Given the description of an element on the screen output the (x, y) to click on. 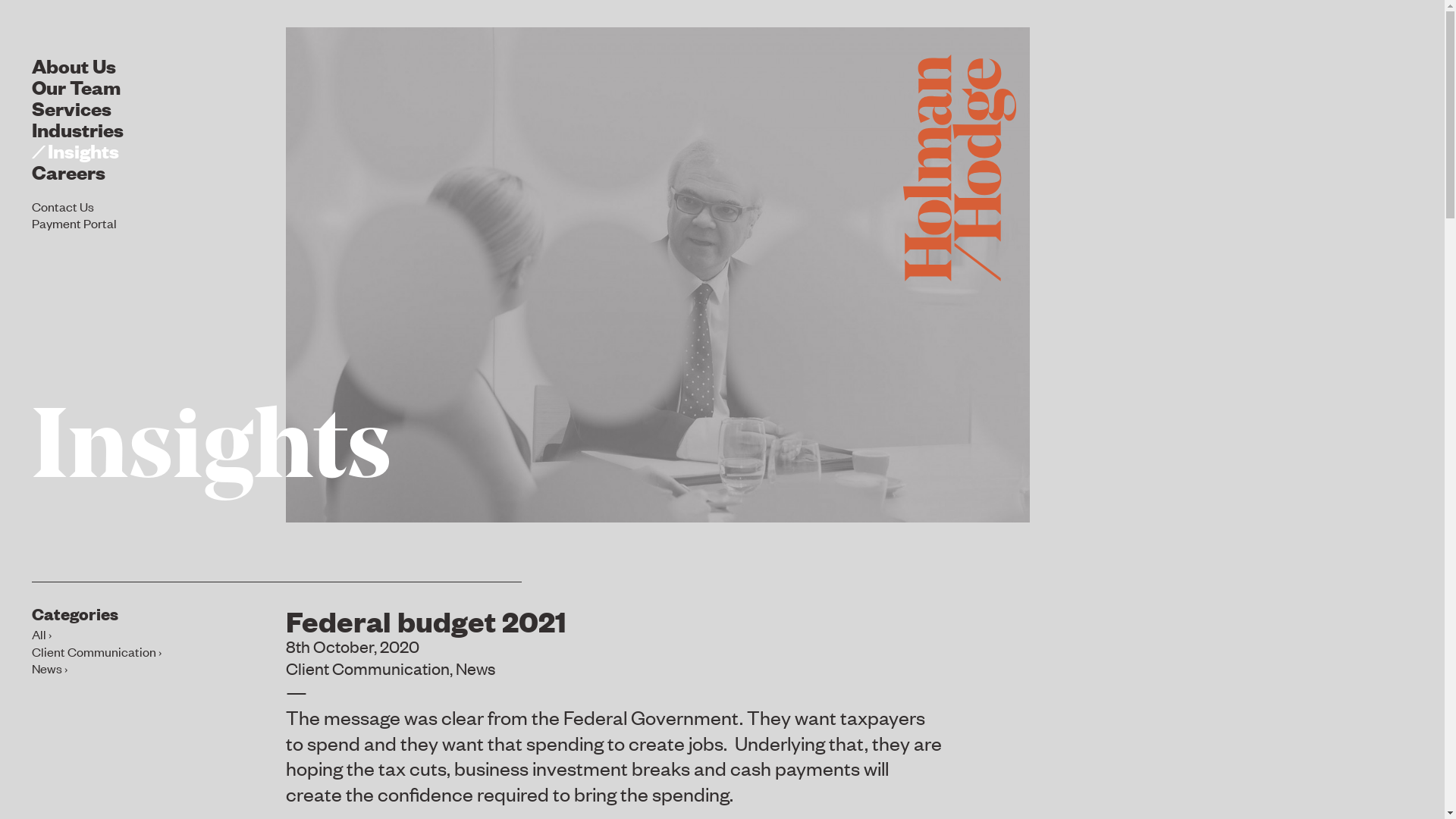
Insights Element type: text (211, 452)
Careers Element type: text (68, 170)
Insights Element type: text (75, 149)
Contact Us Element type: text (62, 205)
About Us Element type: text (73, 64)
Client Communication Element type: text (96, 651)
Payment Portal Element type: text (73, 222)
News Element type: text (49, 667)
Federal budget 2021 Element type: text (425, 619)
All Element type: text (41, 633)
News Element type: text (475, 667)
Services Element type: text (71, 107)
Our Team Element type: text (75, 85)
Client Communication Element type: text (367, 667)
Industries Element type: text (77, 128)
